Given the description of an element on the screen output the (x, y) to click on. 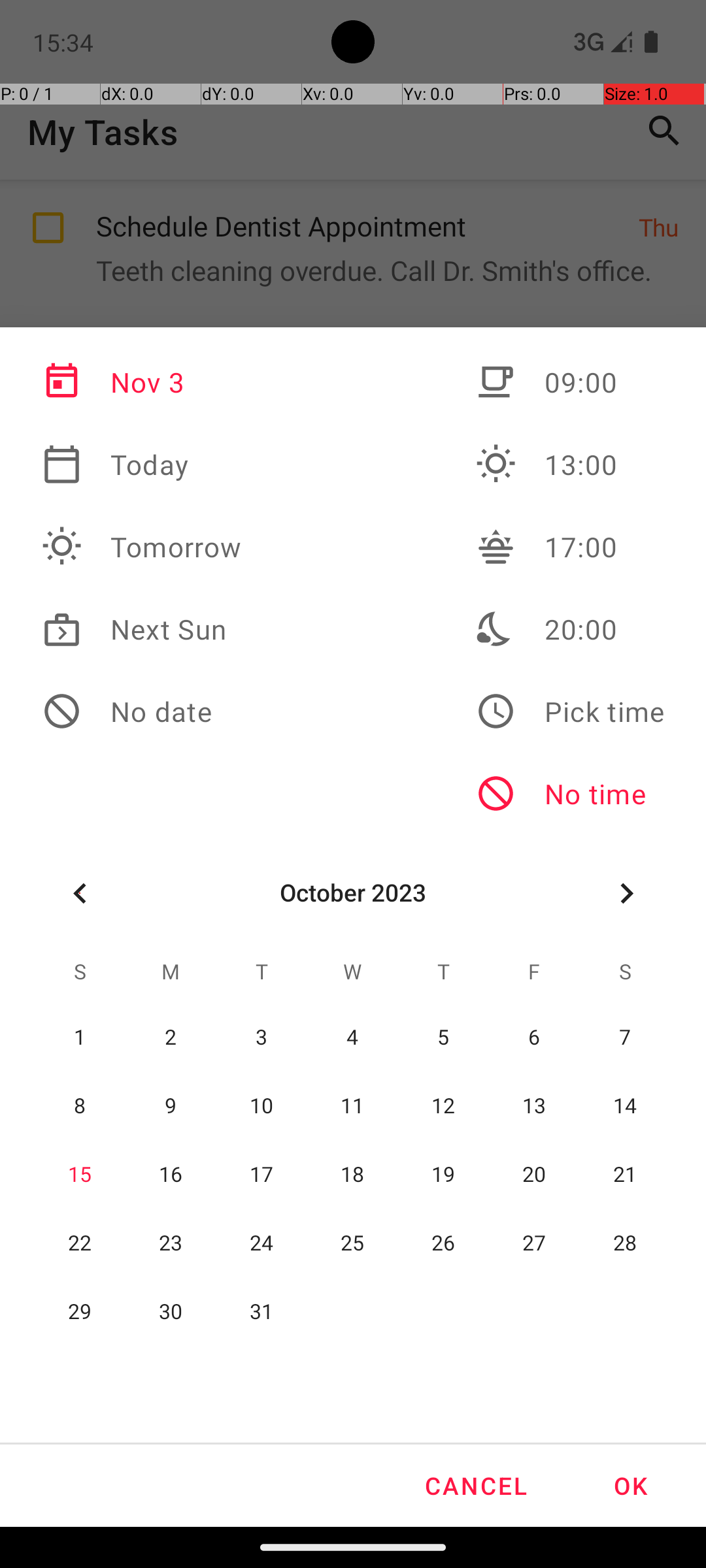
Nov 3 Element type: android.widget.CompoundButton (141, 382)
